Given the description of an element on the screen output the (x, y) to click on. 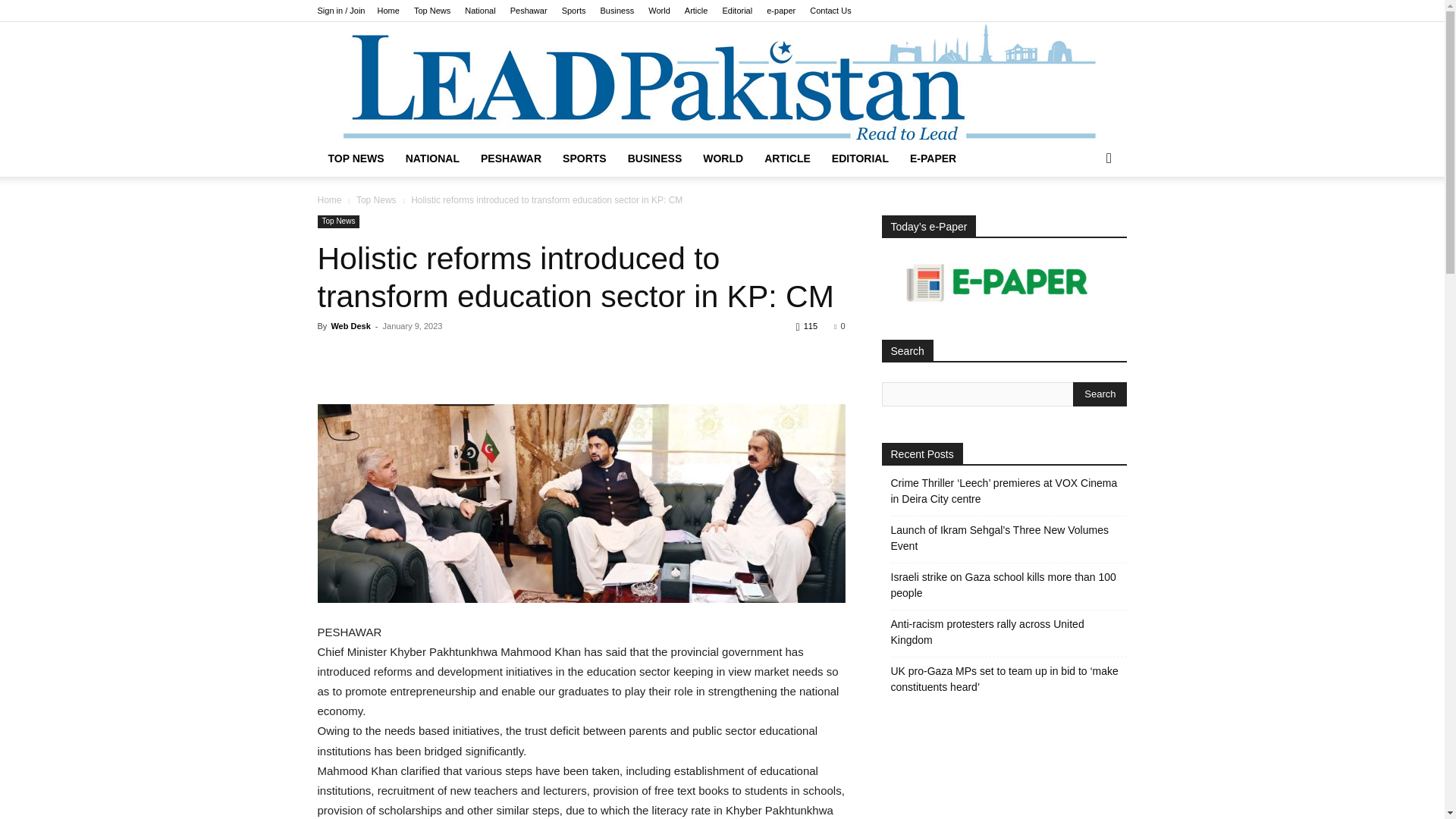
Article (695, 10)
World (658, 10)
PESHAWAR (510, 158)
e-paper (780, 10)
Business (616, 10)
Editorial (737, 10)
National (479, 10)
Search (1099, 394)
SPORTS (584, 158)
NATIONAL (432, 158)
